Given the description of an element on the screen output the (x, y) to click on. 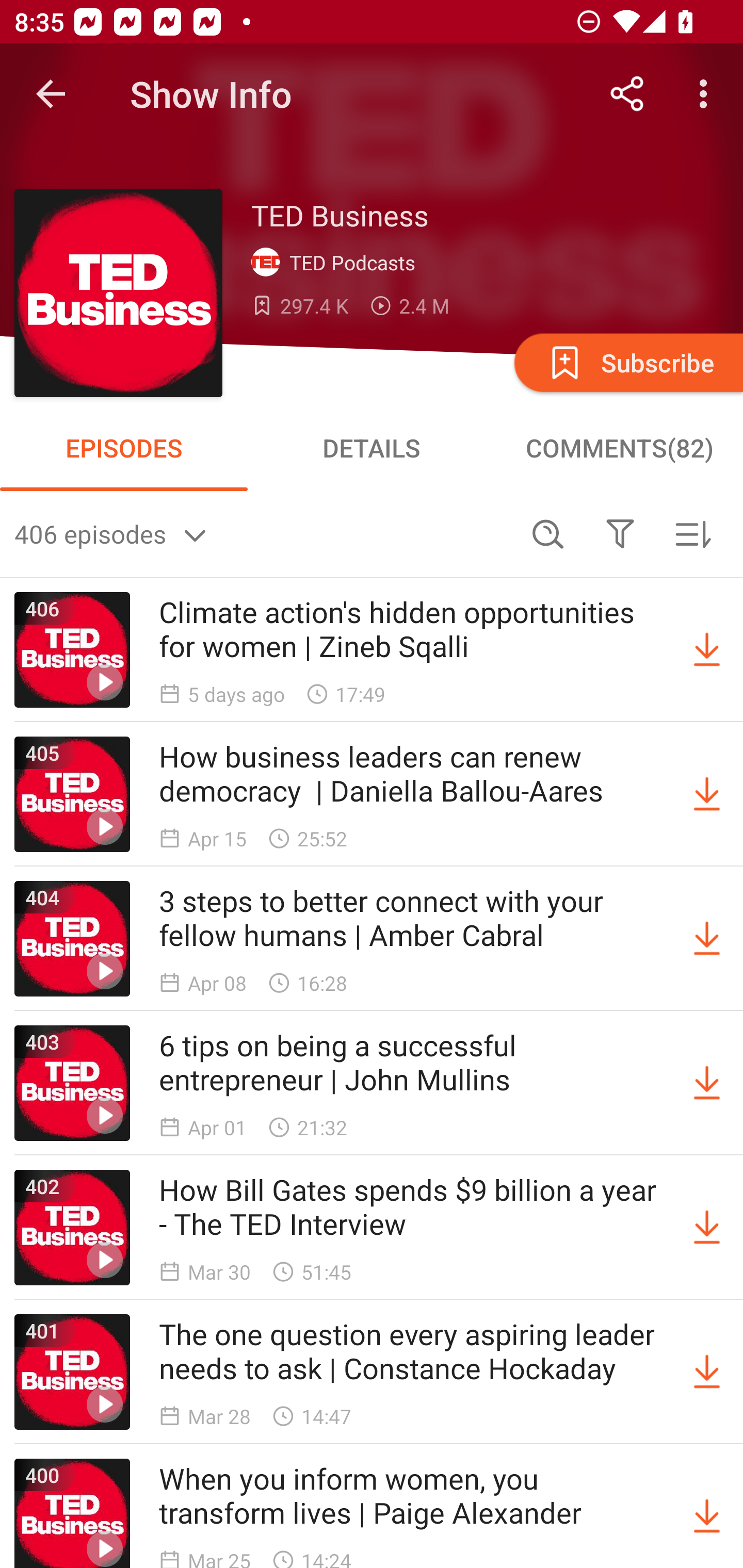
Navigate up (50, 93)
Share (626, 93)
More options (706, 93)
TED Podcasts (337, 262)
Subscribe (627, 361)
EPISODES (123, 447)
DETAILS (371, 447)
COMMENTS(82) (619, 447)
406 episodes  (262, 533)
 Search (547, 533)
 (619, 533)
 Sorted by newest first (692, 533)
Download (706, 649)
Download (706, 793)
Download (706, 939)
Download (706, 1083)
Download (706, 1227)
Download (706, 1371)
Download (706, 1513)
